Given the description of an element on the screen output the (x, y) to click on. 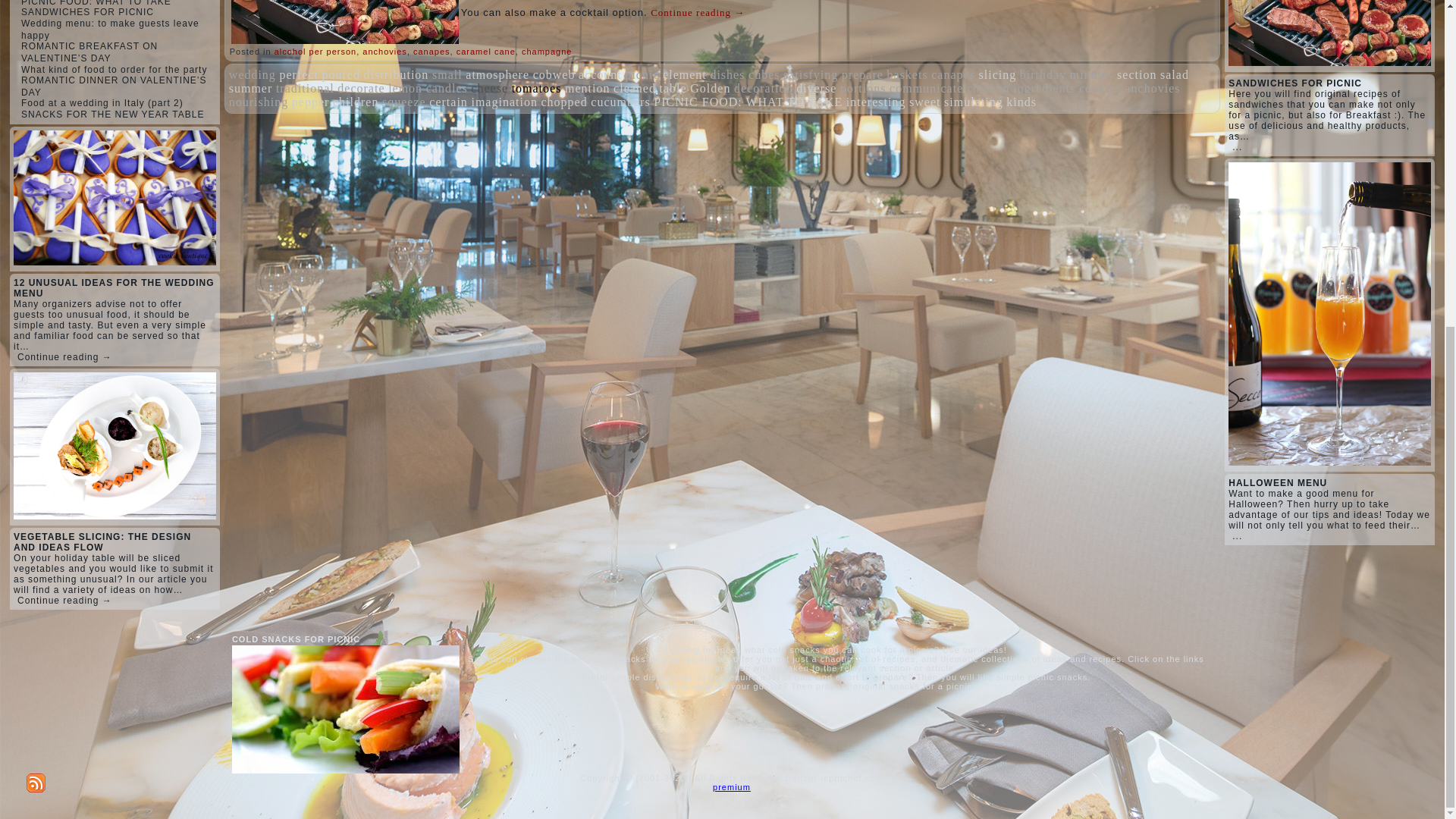
What kind of food to order for the party (113, 69)
canapes (431, 51)
SANDWICHES FOR PICNIC (87, 11)
SNACKS FOR THE NEW YEAR TABLE (113, 113)
PICNIC FOOD: WHAT TO TAKE (96, 3)
Wedding menu: to make guests leave happy (110, 29)
PICNIC FOOD: WHAT TO TAKE (96, 3)
caramel cane (486, 51)
anchovies (384, 51)
alcohol per person (315, 51)
